Given the description of an element on the screen output the (x, y) to click on. 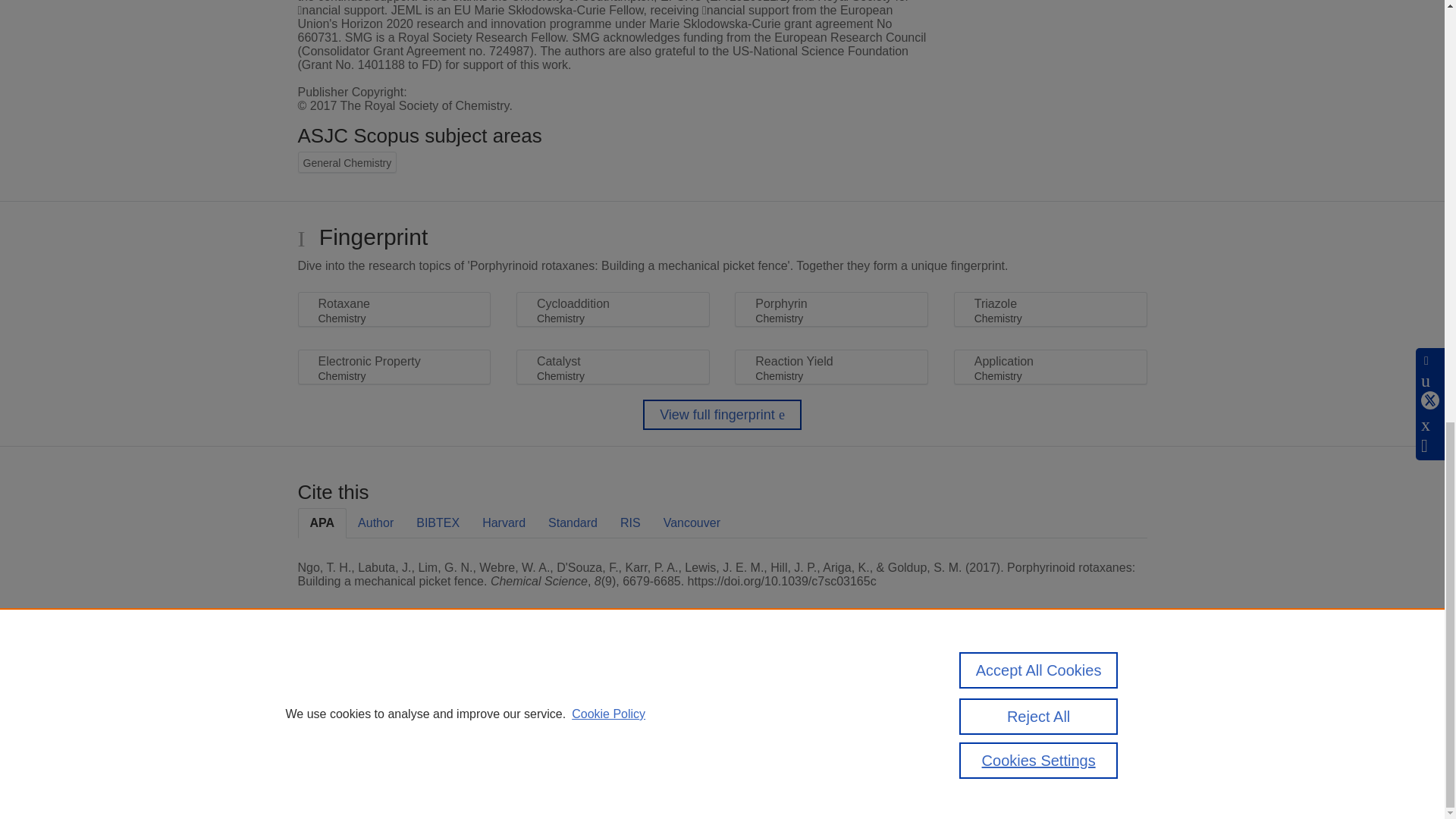
Scopus (394, 686)
Pure (362, 686)
View full fingerprint (722, 414)
